Given the description of an element on the screen output the (x, y) to click on. 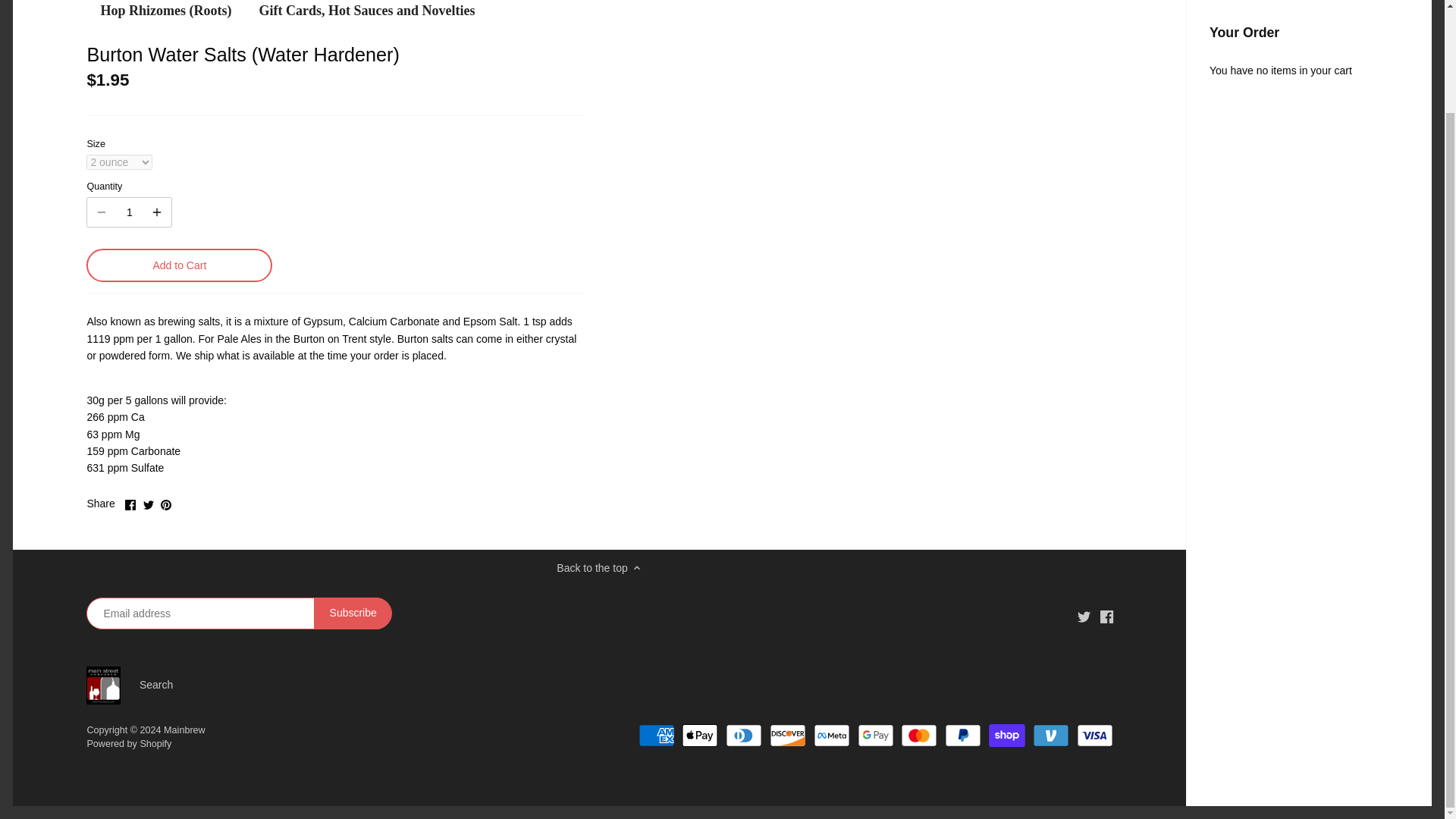
Twitter (1083, 616)
Facebook (1105, 616)
1 (129, 212)
Discover (788, 734)
Facebook (130, 504)
Diners Club (743, 734)
American Express (657, 734)
Apple Pay (699, 734)
Subscribe (352, 613)
Pinterest (165, 504)
Twitter (148, 504)
